Given the description of an element on the screen output the (x, y) to click on. 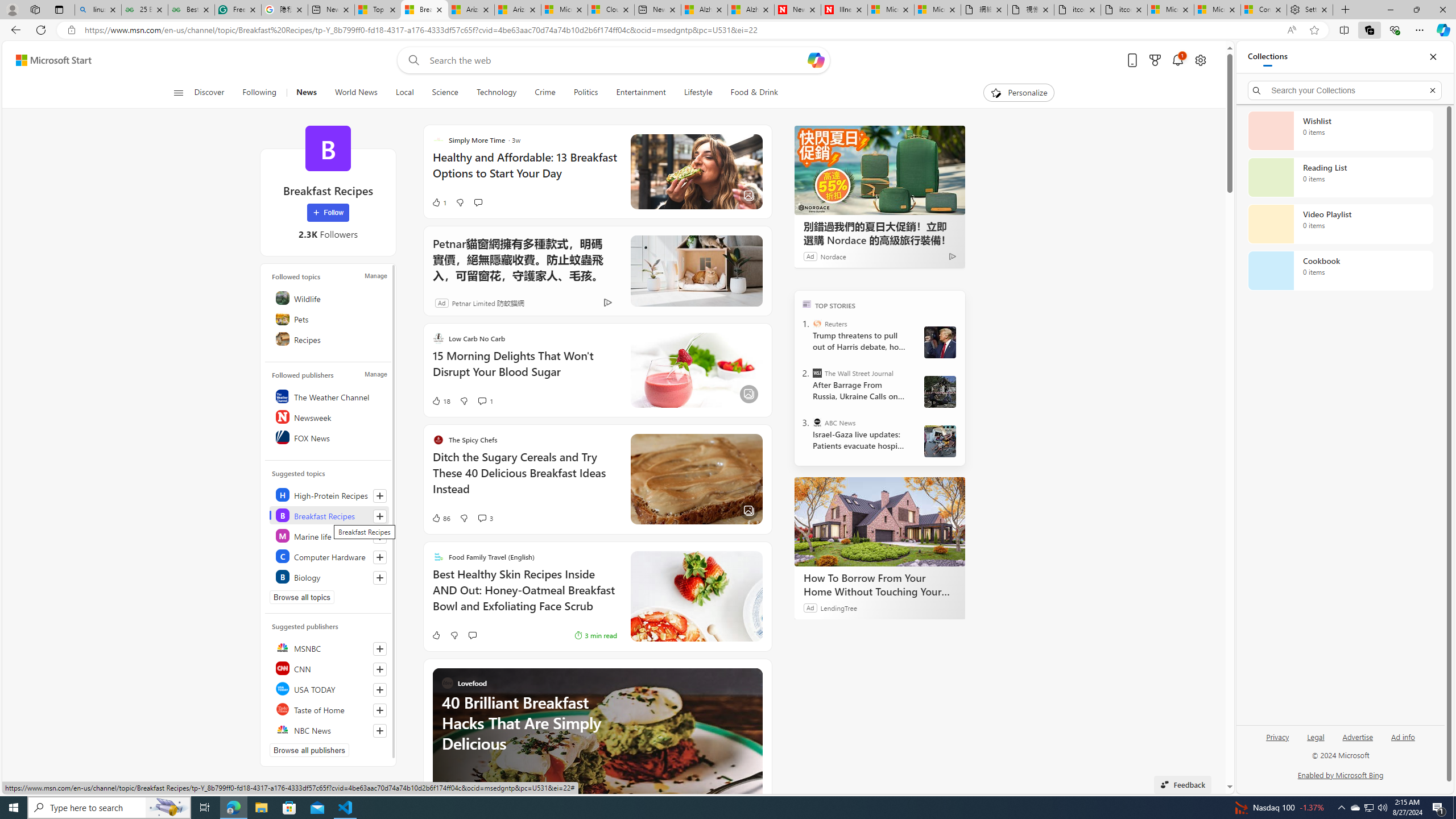
Video Playlist collection, 0 items (1339, 223)
NBC News (328, 729)
View comments 3 Comment (481, 517)
Best SSL Certificates Provider in India - GeeksforGeeks (191, 9)
Ad info (1402, 741)
World News (355, 92)
Consumer Health Data Privacy Policy (1263, 9)
